Given the description of an element on the screen output the (x, y) to click on. 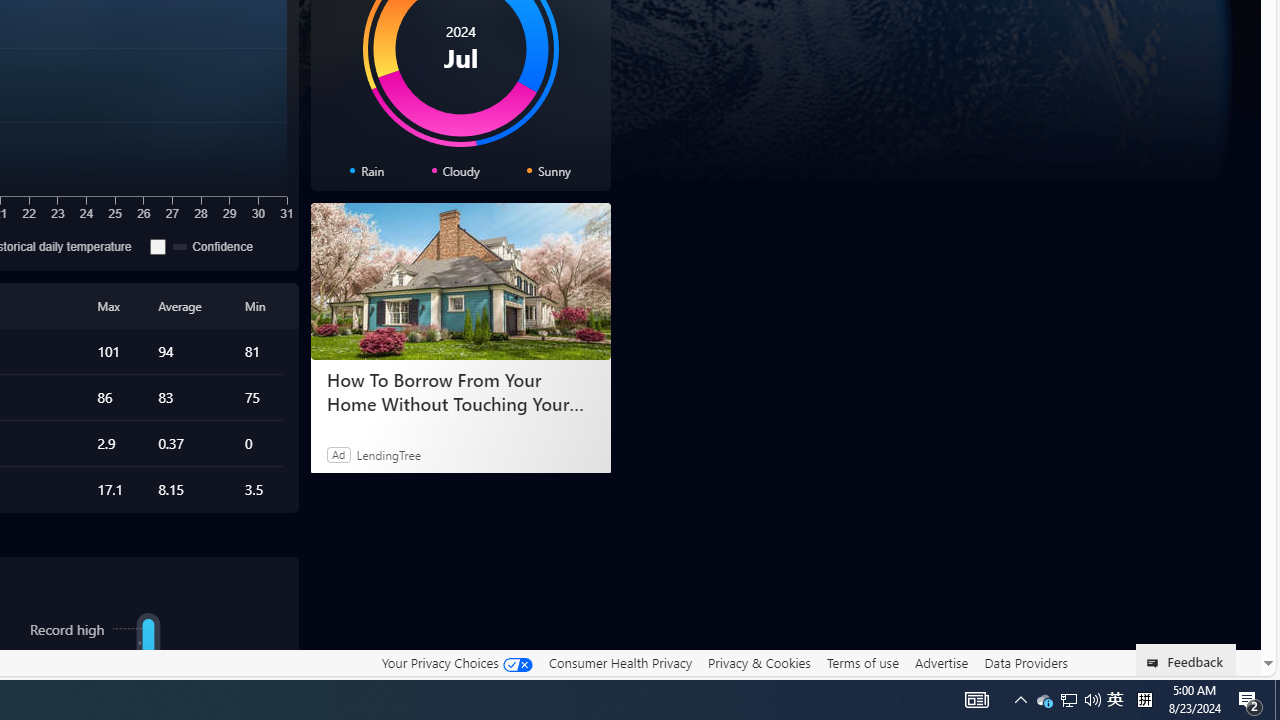
Privacy & Cookies (759, 662)
Confidence (214, 246)
